Given the description of an element on the screen output the (x, y) to click on. 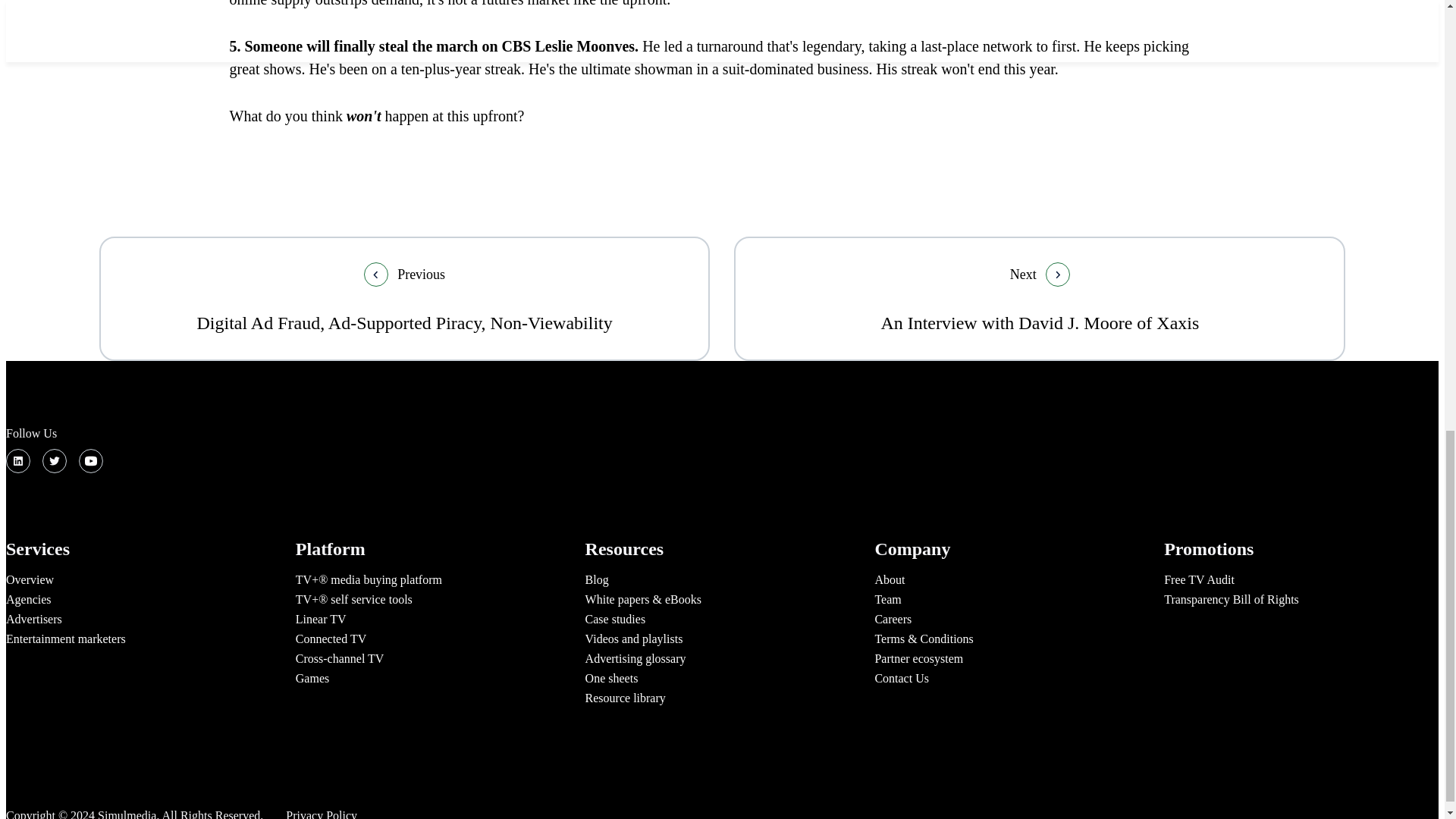
Transparency Bill of Rights (1230, 599)
Partner ecosystem (918, 658)
About (889, 579)
Agencies (27, 599)
Contact Us (901, 677)
Find Simulmedia on LinkedIn (17, 460)
Careers (893, 618)
Linear TV (320, 618)
Overview (29, 579)
Free TV Audit (1198, 579)
Resource library (625, 697)
Connected TV (330, 638)
Team (888, 599)
